Given the description of an element on the screen output the (x, y) to click on. 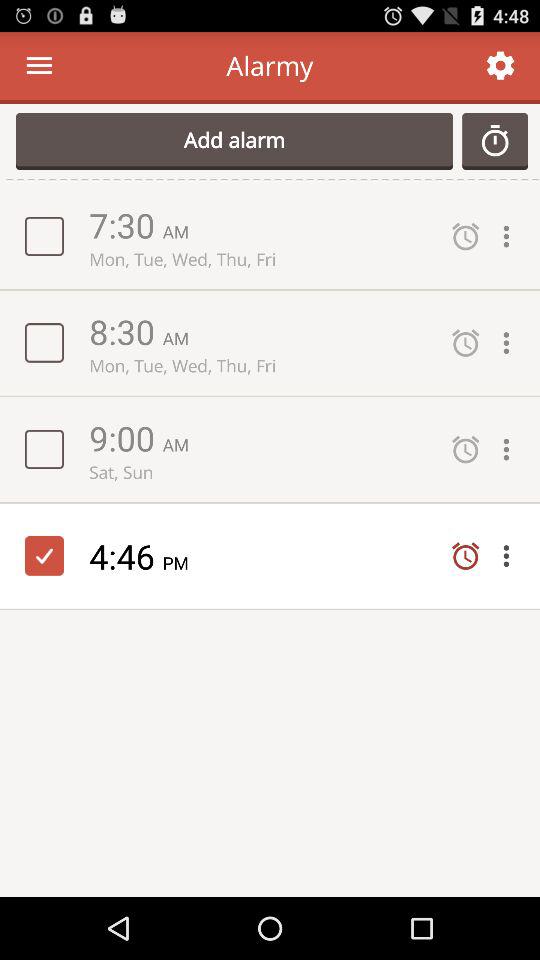
open options (511, 236)
